Given the description of an element on the screen output the (x, y) to click on. 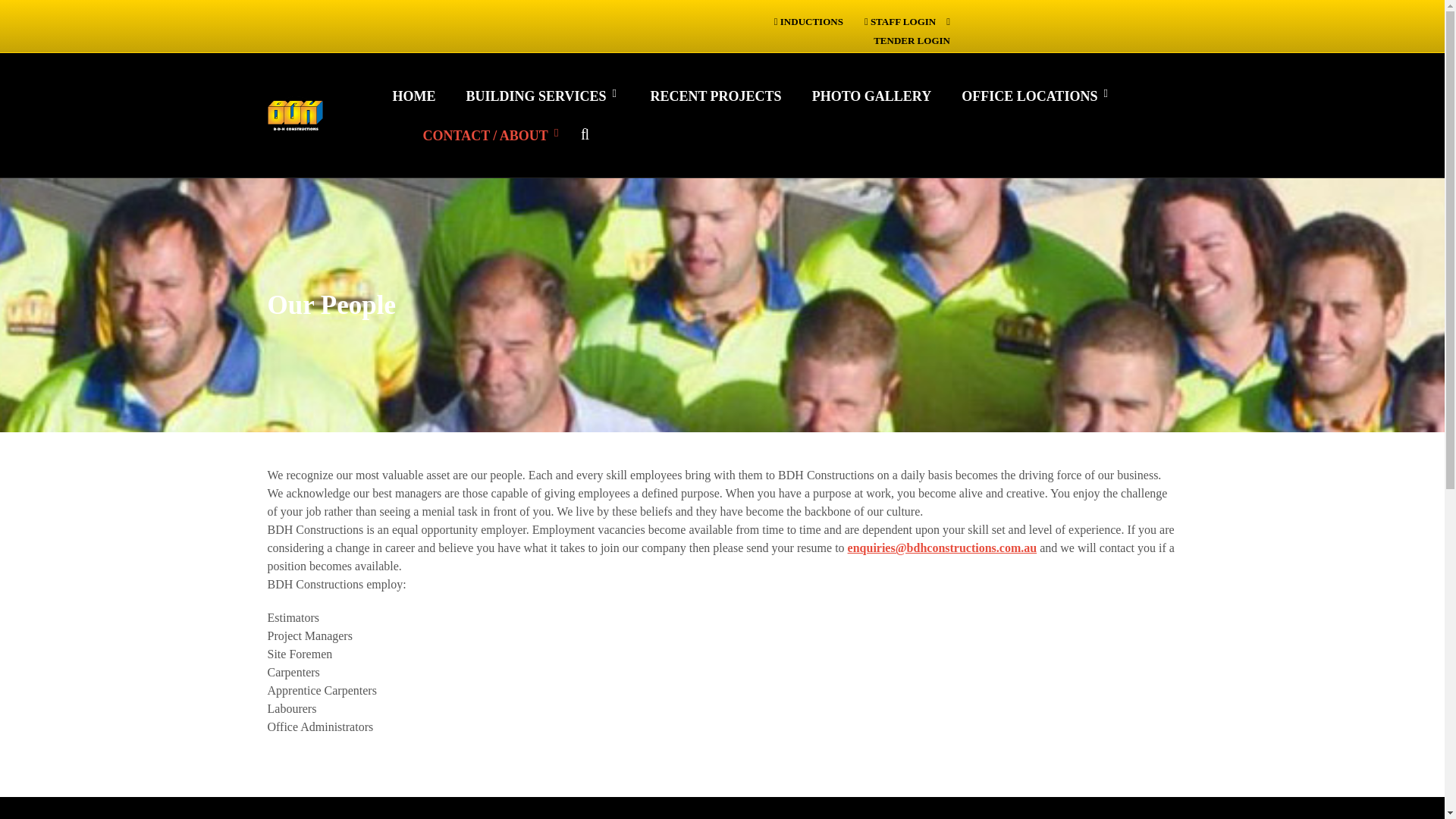
STAFF LOGIN (900, 21)
TENDER LOGIN (911, 30)
